Given the description of an element on the screen output the (x, y) to click on. 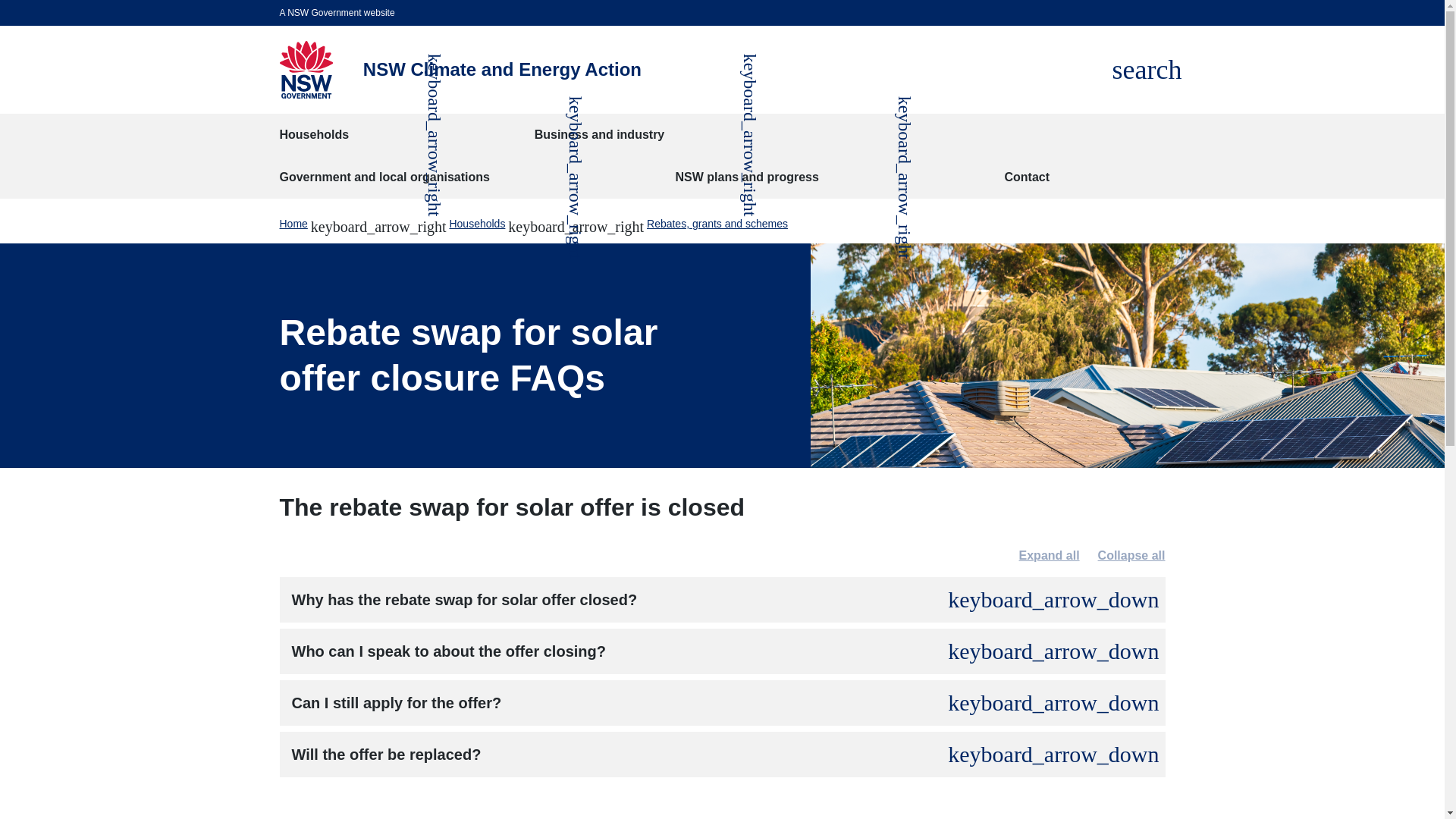
NSW Climate and Energy Action (502, 69)
NSW Climate and Energy Action (305, 69)
